Given the description of an element on the screen output the (x, y) to click on. 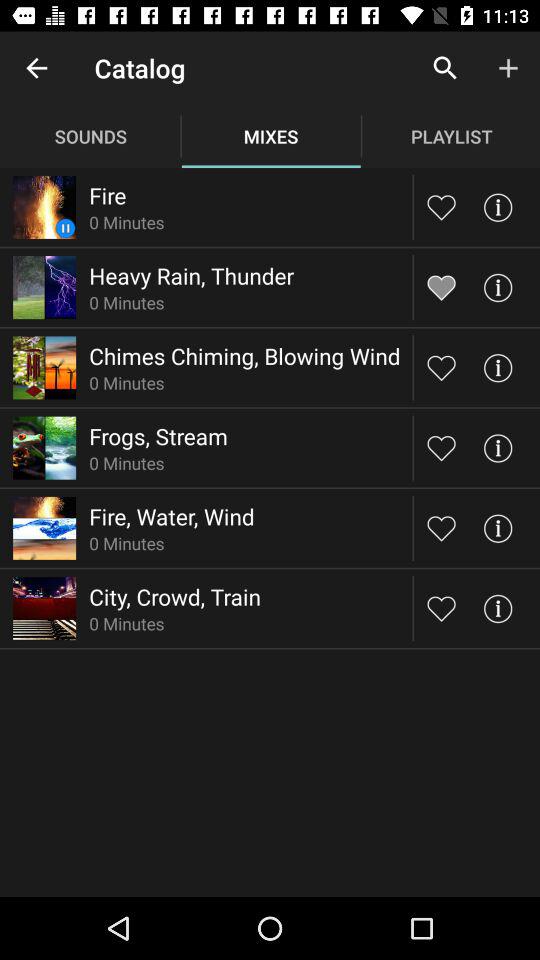
get information (498, 608)
